Given the description of an element on the screen output the (x, y) to click on. 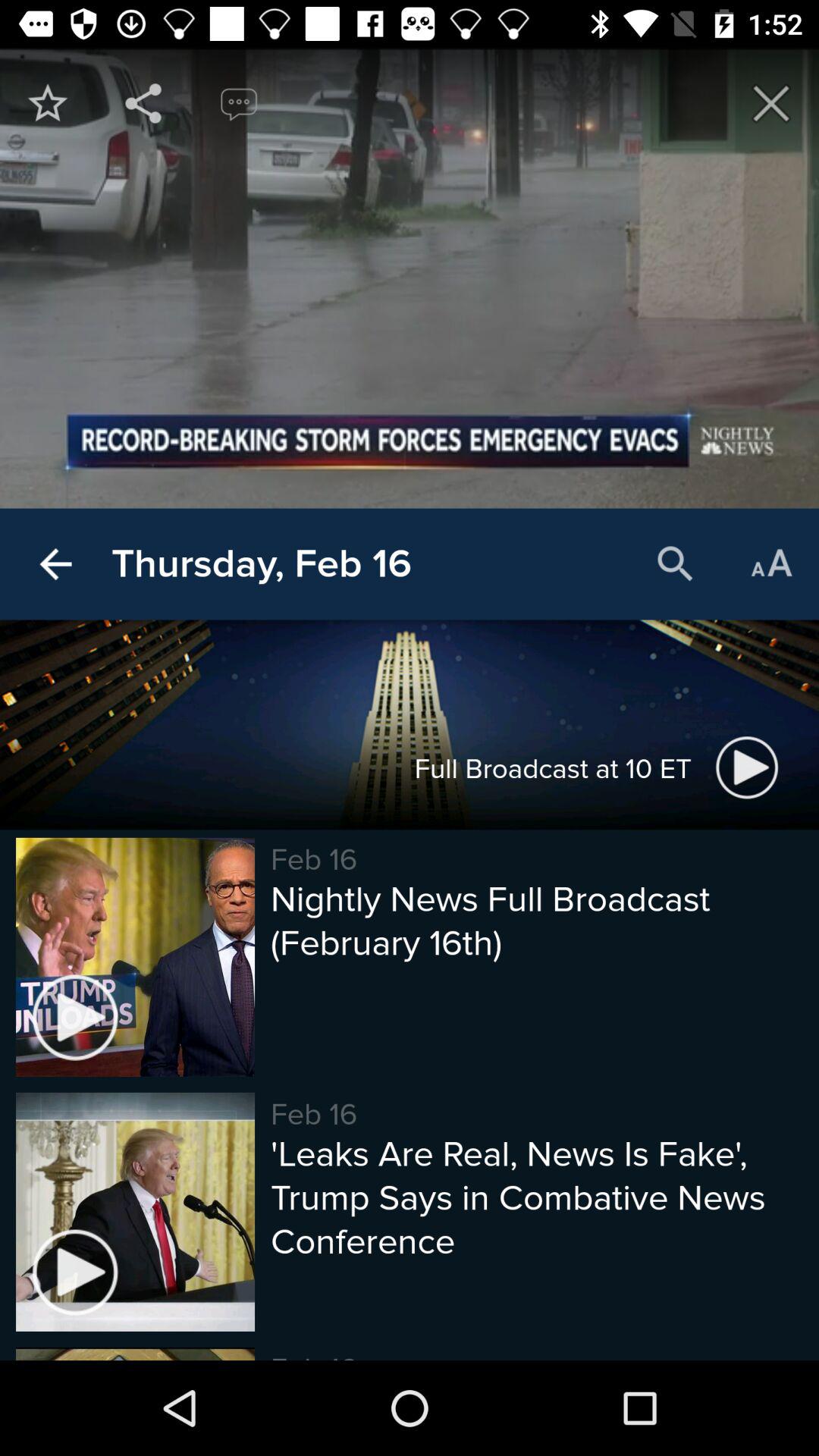
swipe until thursday, feb 16 (261, 563)
